Given the description of an element on the screen output the (x, y) to click on. 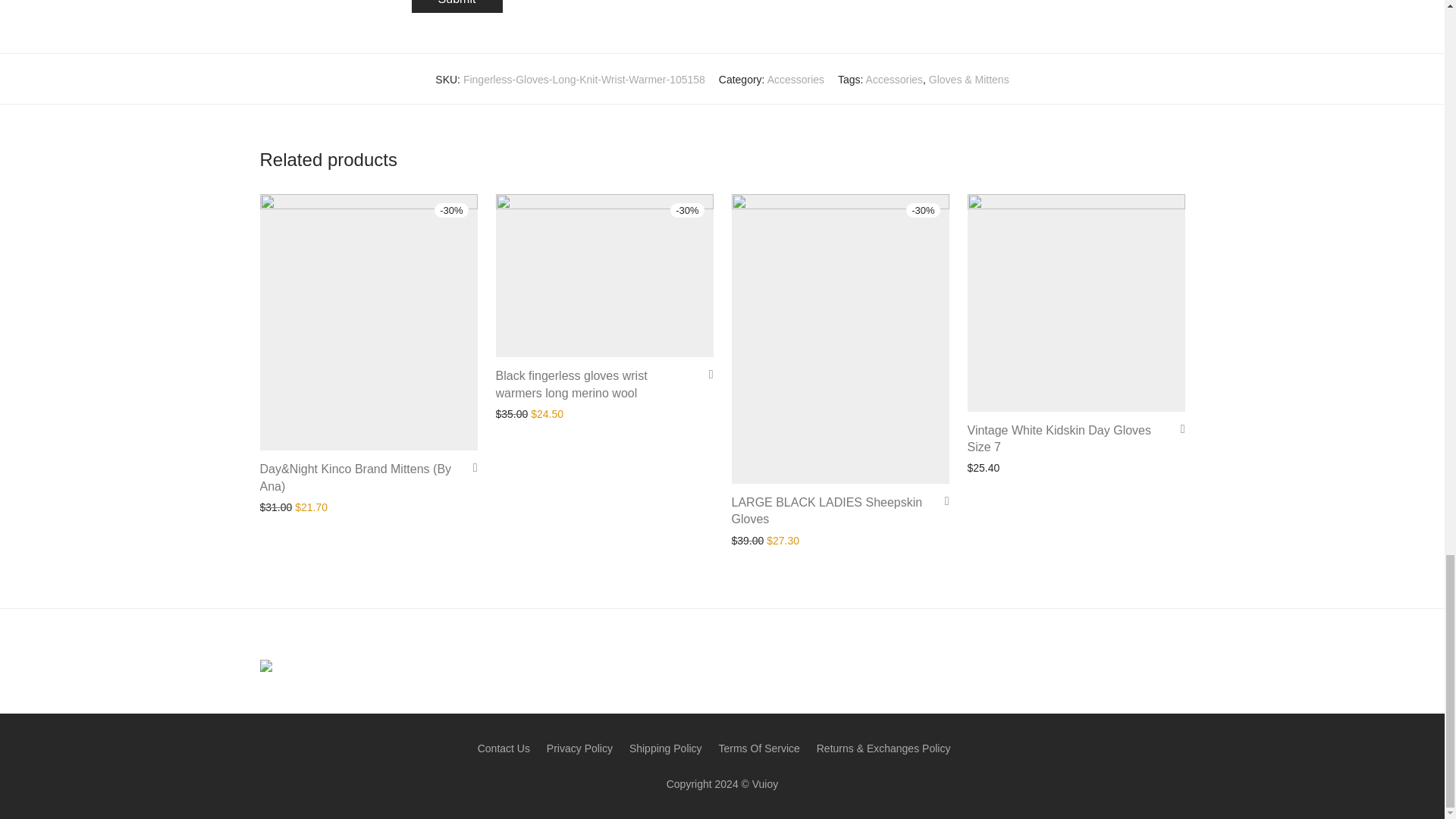
Submit (456, 6)
Accessories (795, 79)
Submit (456, 6)
Add to Wishlist (705, 373)
Add to Wishlist (470, 467)
Add to Wishlist (941, 500)
Black fingerless gloves wrist warmers long merino wool (571, 383)
Add to Wishlist (1177, 428)
Accessories (894, 79)
